Given the description of an element on the screen output the (x, y) to click on. 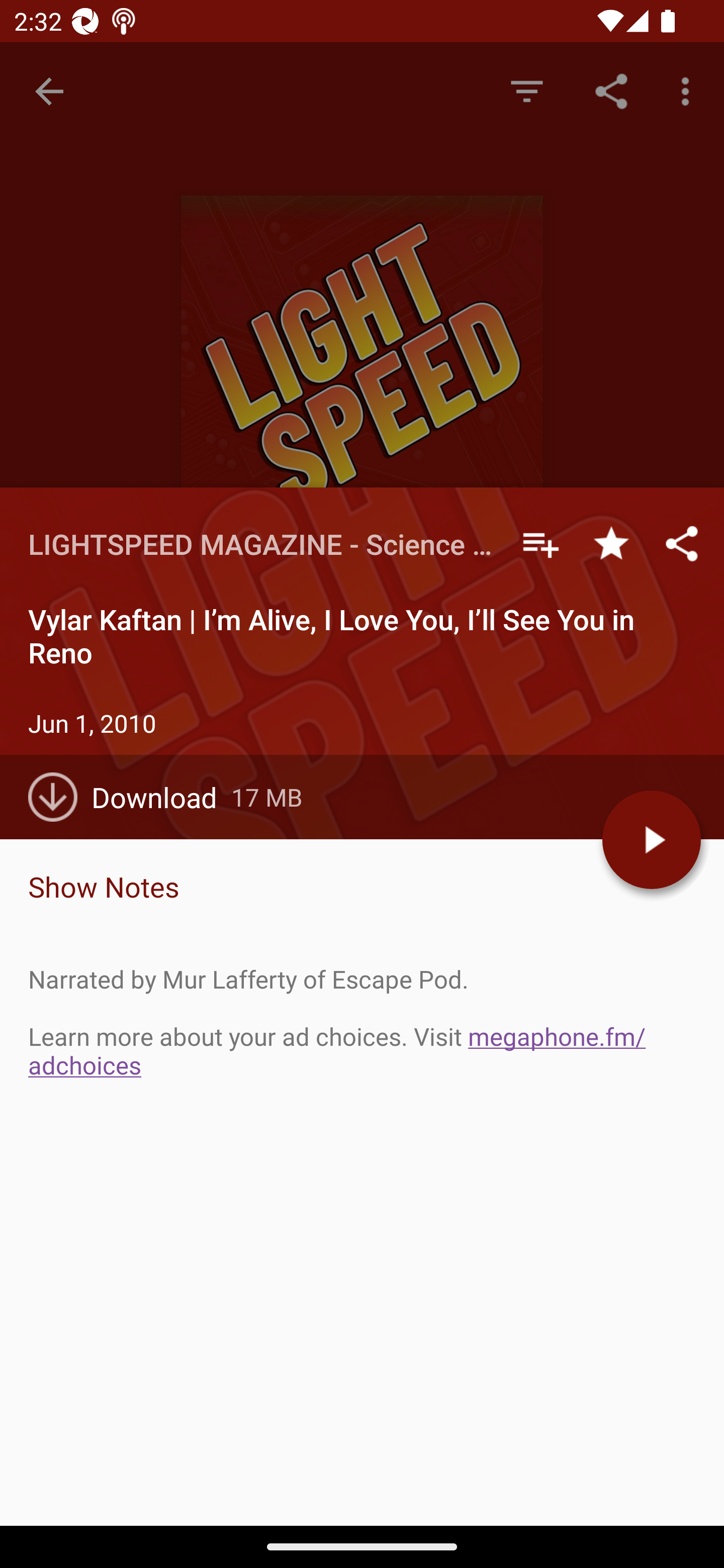
Download (129, 797)
